Given the description of an element on the screen output the (x, y) to click on. 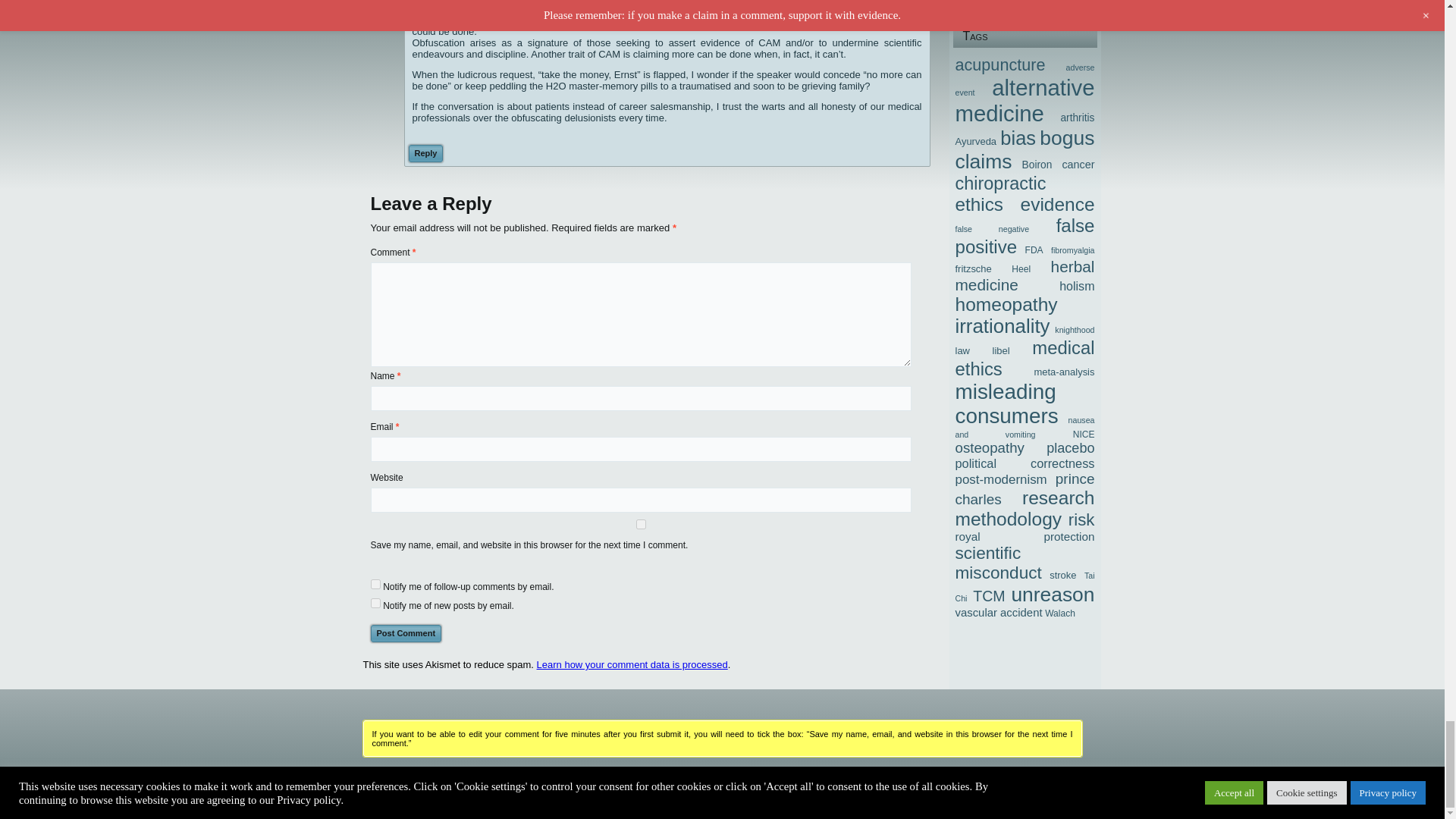
Post Comment (405, 633)
subscribe (374, 583)
subscribe (374, 603)
yes (640, 524)
